Given the description of an element on the screen output the (x, y) to click on. 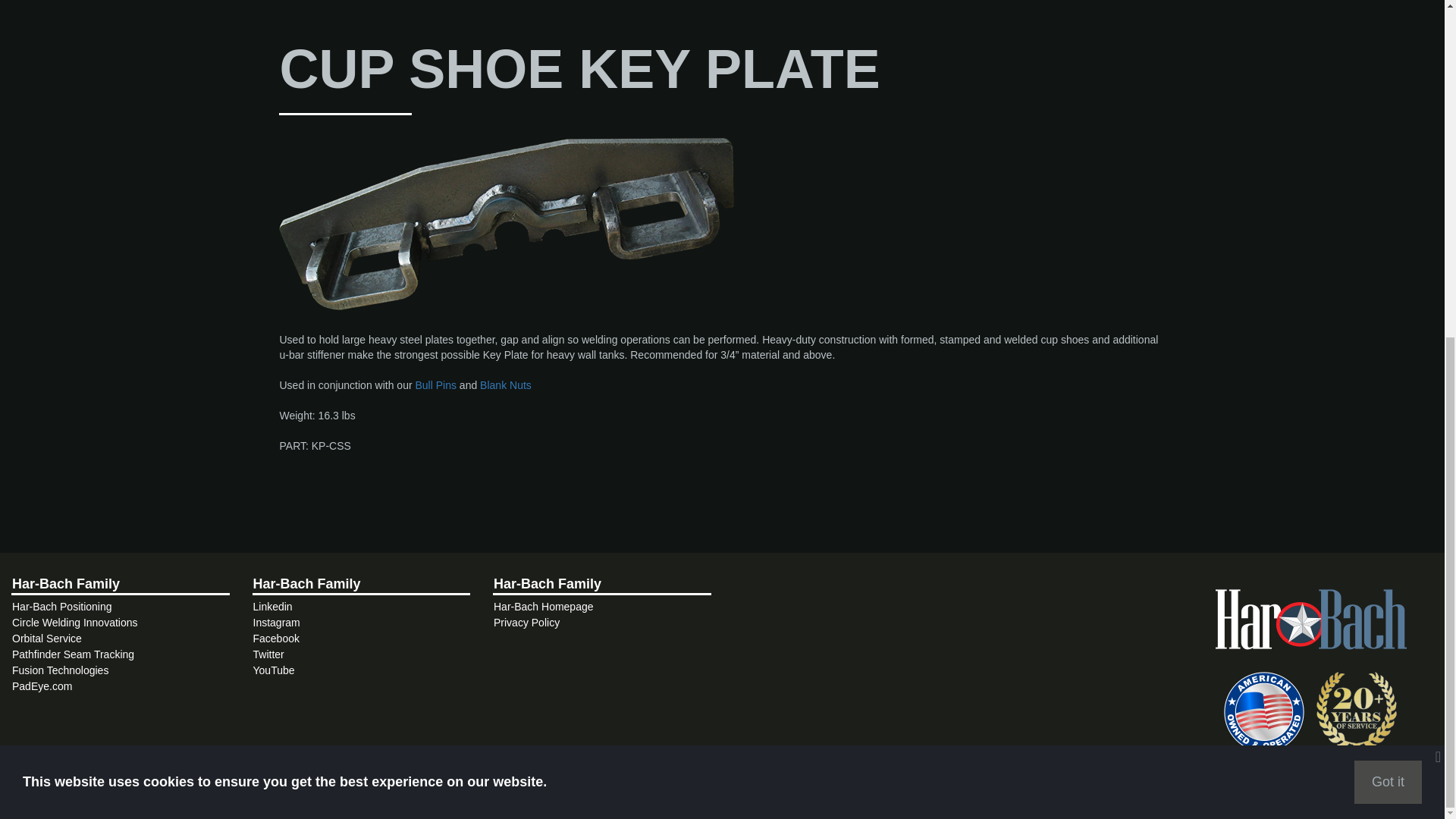
PadEye.com (41, 686)
Linkedin (272, 606)
Blank Nuts (505, 385)
Orbital Service (46, 638)
Twitter (268, 654)
Har-Bach Logo (1310, 620)
YouTube (274, 670)
Facebook (276, 638)
Fusion Technologies (59, 670)
Bull Pins (437, 385)
